Given the description of an element on the screen output the (x, y) to click on. 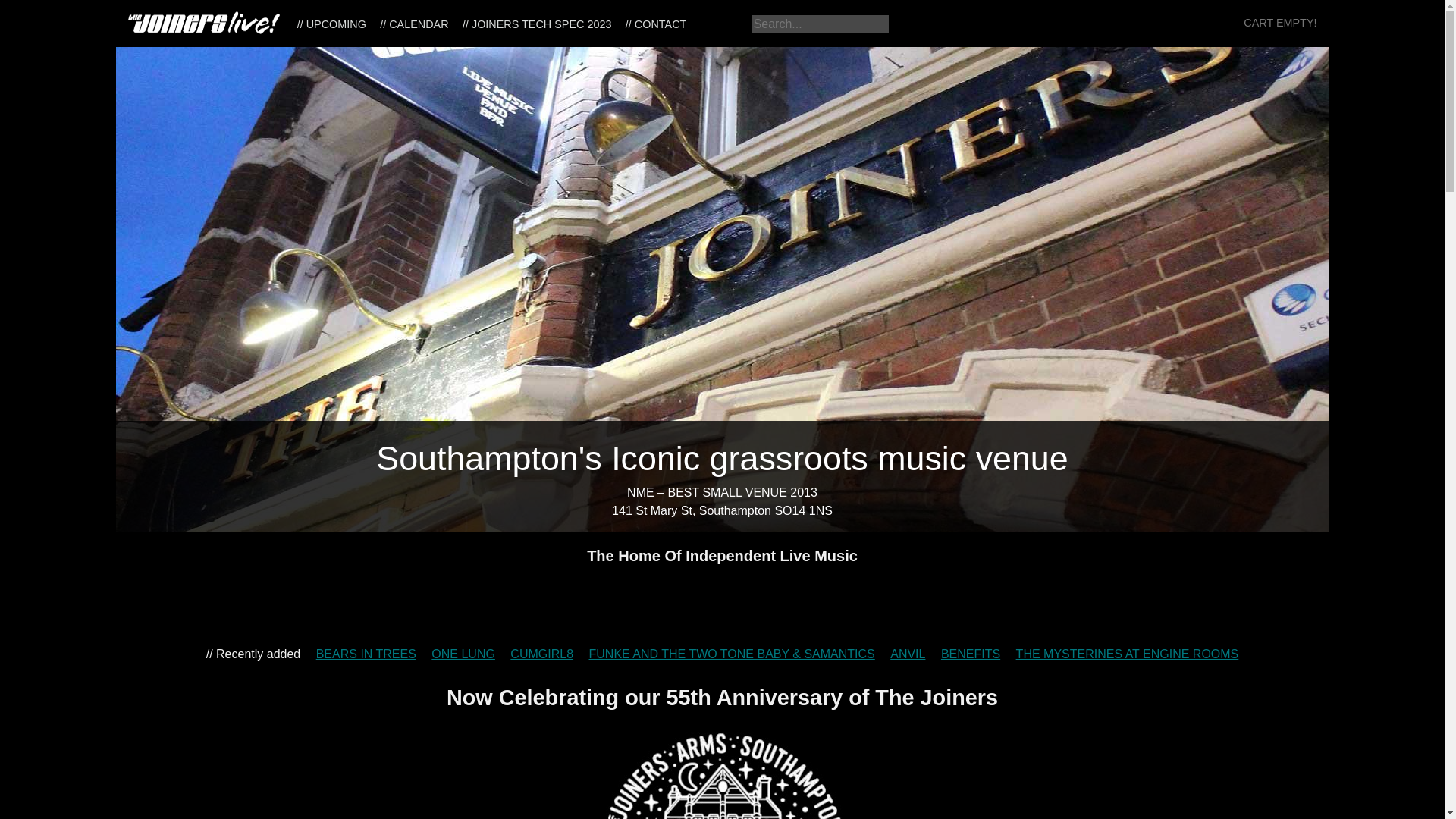
JOINERS TECH SPEC 2023 (537, 24)
BEARS IN TREES (365, 653)
ONE LUNG (462, 653)
ANVIL (906, 653)
CUMGIRL8 (542, 653)
UPCOMING (331, 24)
CALENDAR (414, 24)
BENEFITS (970, 653)
CONTACT (656, 24)
